Given the description of an element on the screen output the (x, y) to click on. 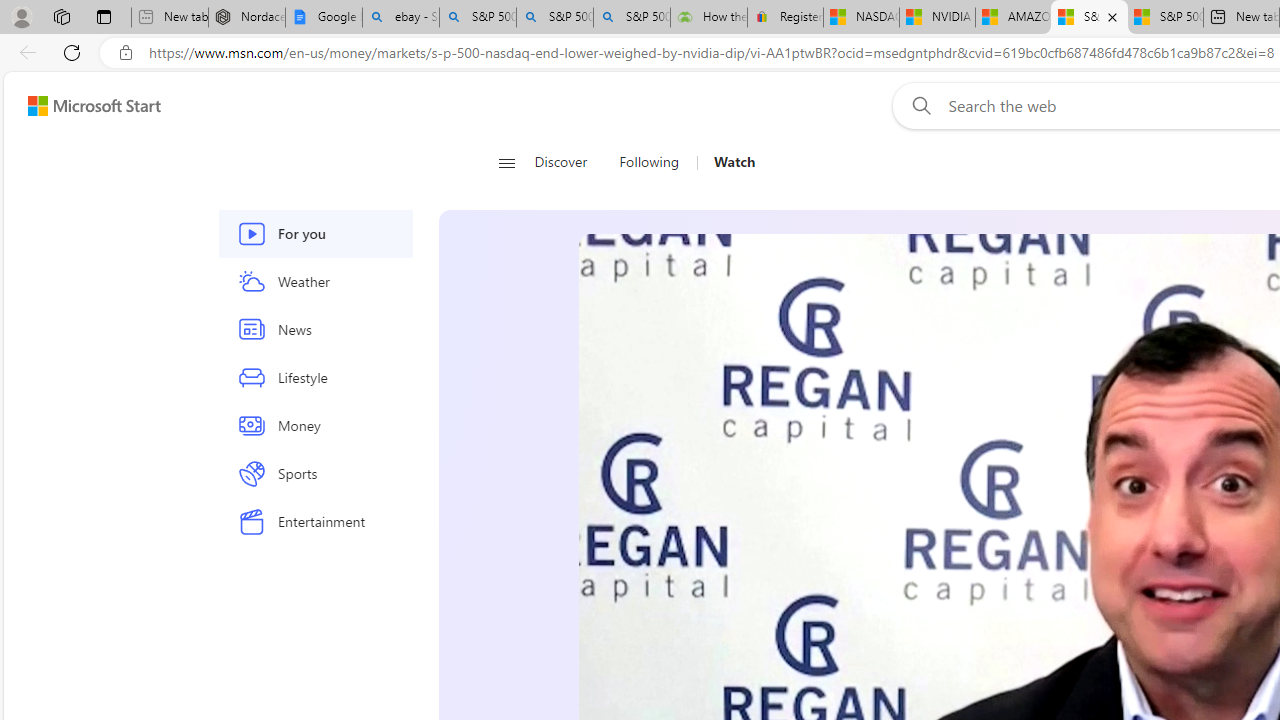
Open navigation menu (506, 162)
